Given the description of an element on the screen output the (x, y) to click on. 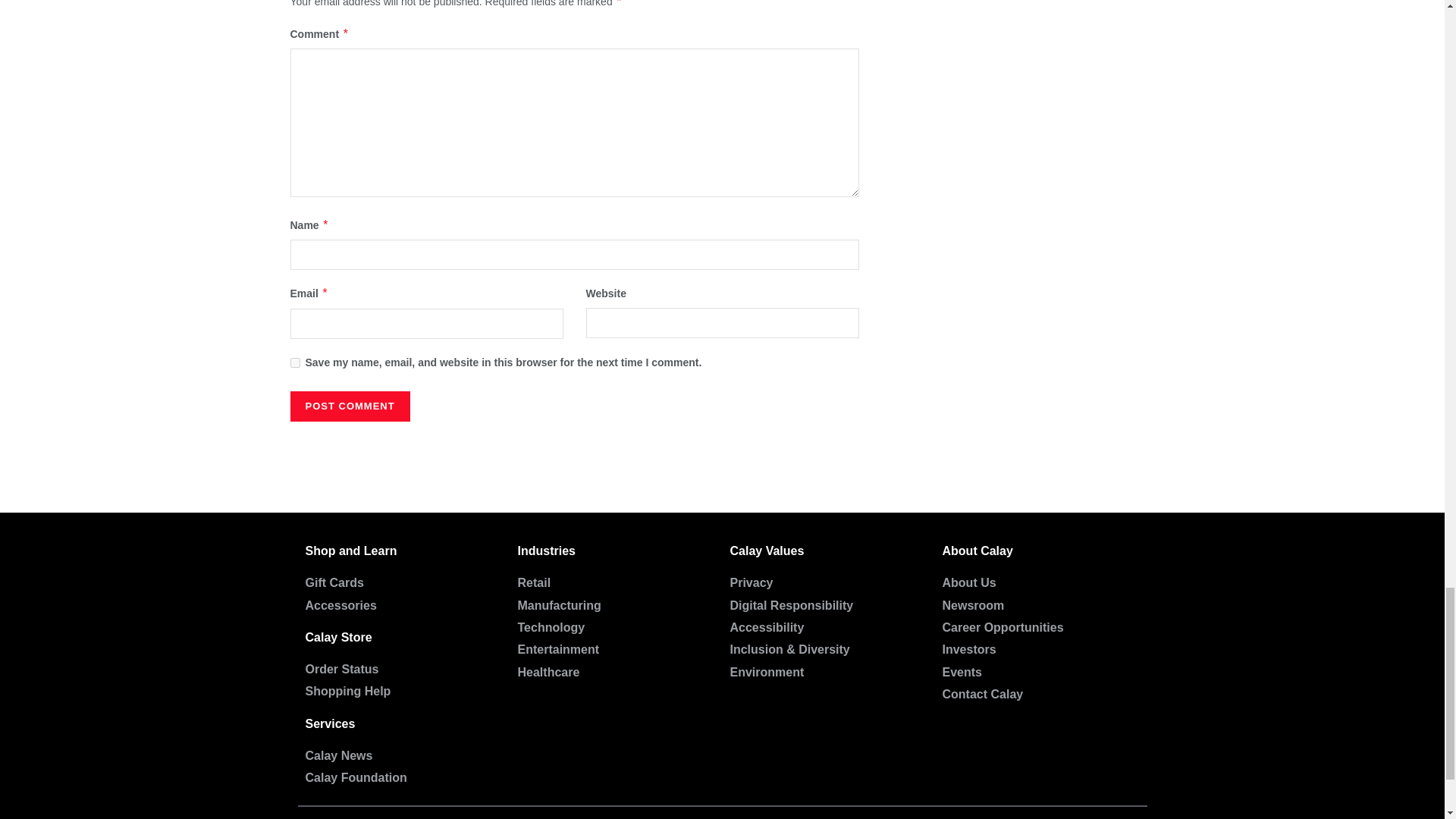
Post Comment (349, 406)
yes (294, 362)
